Given the description of an element on the screen output the (x, y) to click on. 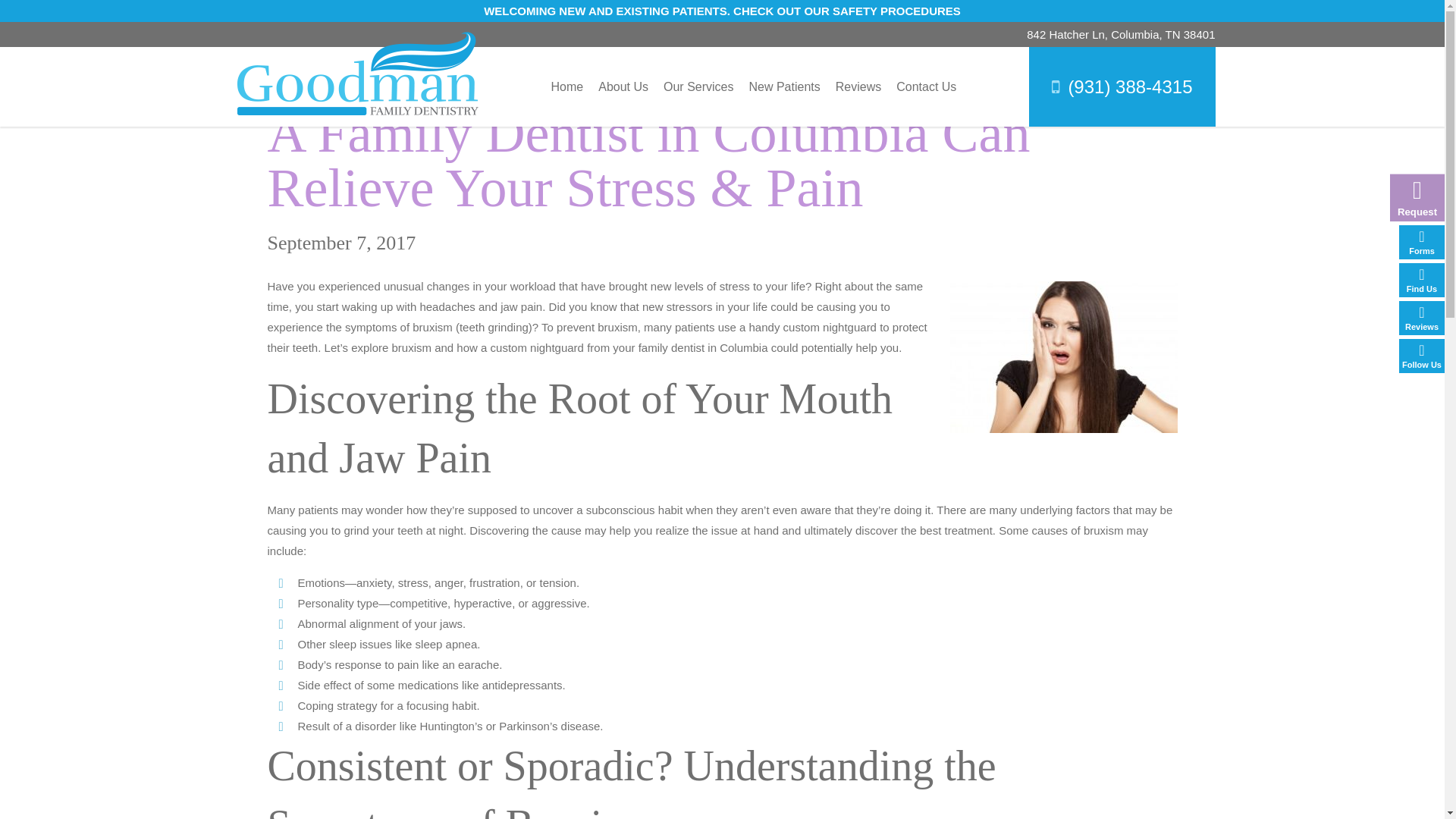
842 Hatcher Ln, Columbia, TN 38401 (1120, 33)
Home (567, 86)
Our Services (698, 86)
Request (1412, 193)
About Us (623, 86)
